Given the description of an element on the screen output the (x, y) to click on. 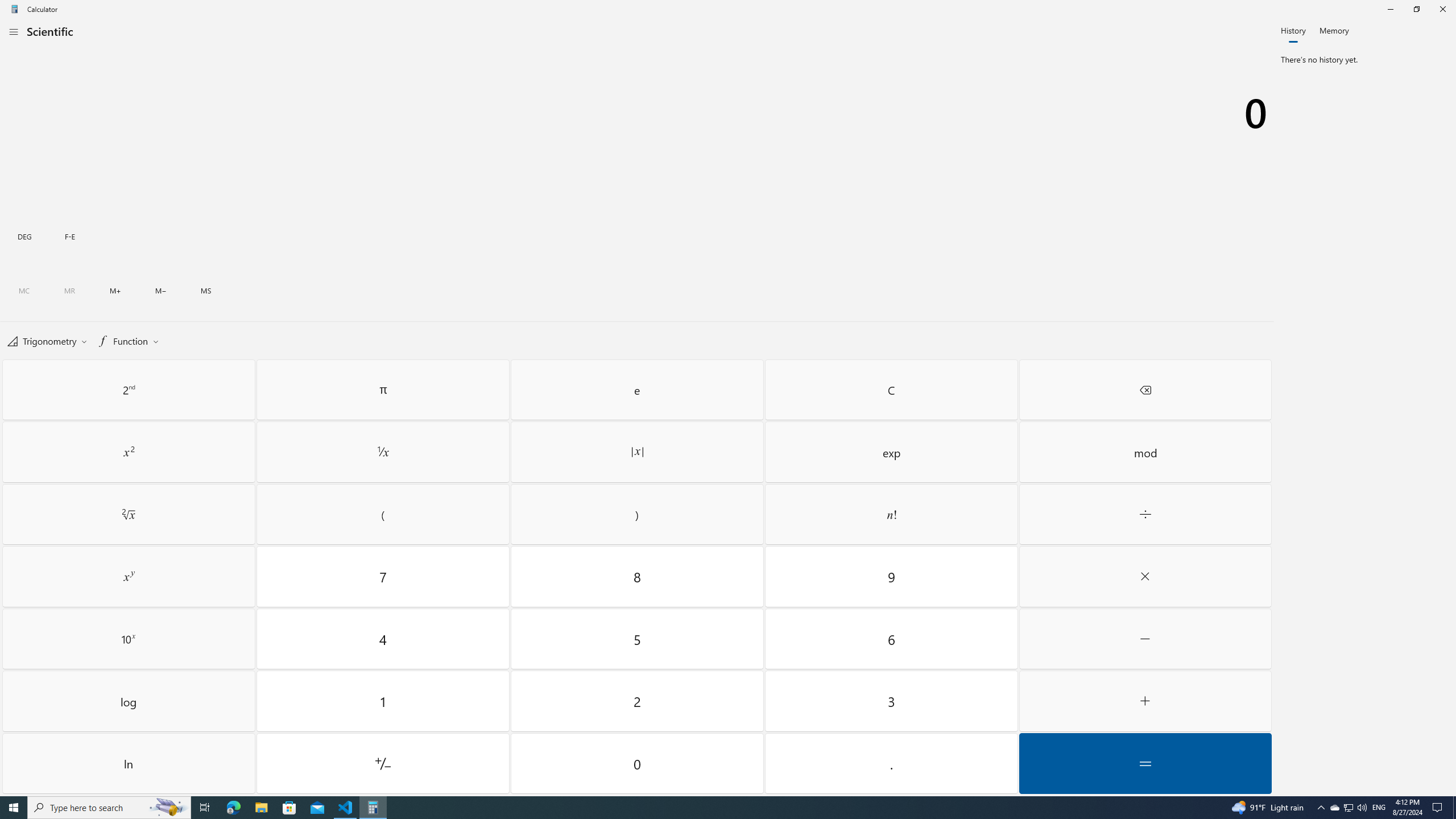
Natural log (128, 763)
Calculator - 1 running window (373, 807)
Microsoft Edge (233, 807)
Backspace (1145, 389)
Microsoft Store (289, 807)
Degrees toggle (24, 235)
Modulo (1145, 452)
Square (1333, 807)
Euler's number (1347, 807)
Show desktop (128, 452)
Minimize Calculator (637, 389)
Search highlights icon opens search home window (1454, 807)
